Given the description of an element on the screen output the (x, y) to click on. 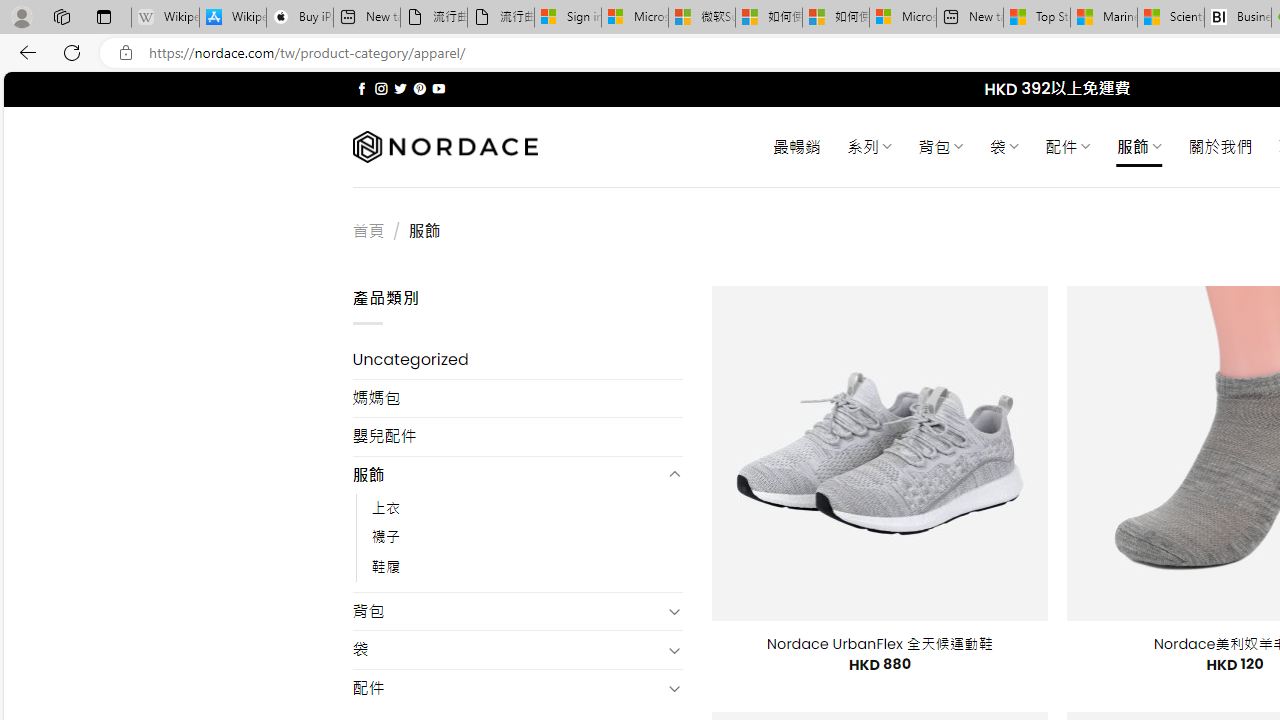
Uncategorized (517, 359)
Follow on Instagram (381, 88)
Follow on Pinterest (419, 88)
